Given the description of an element on the screen output the (x, y) to click on. 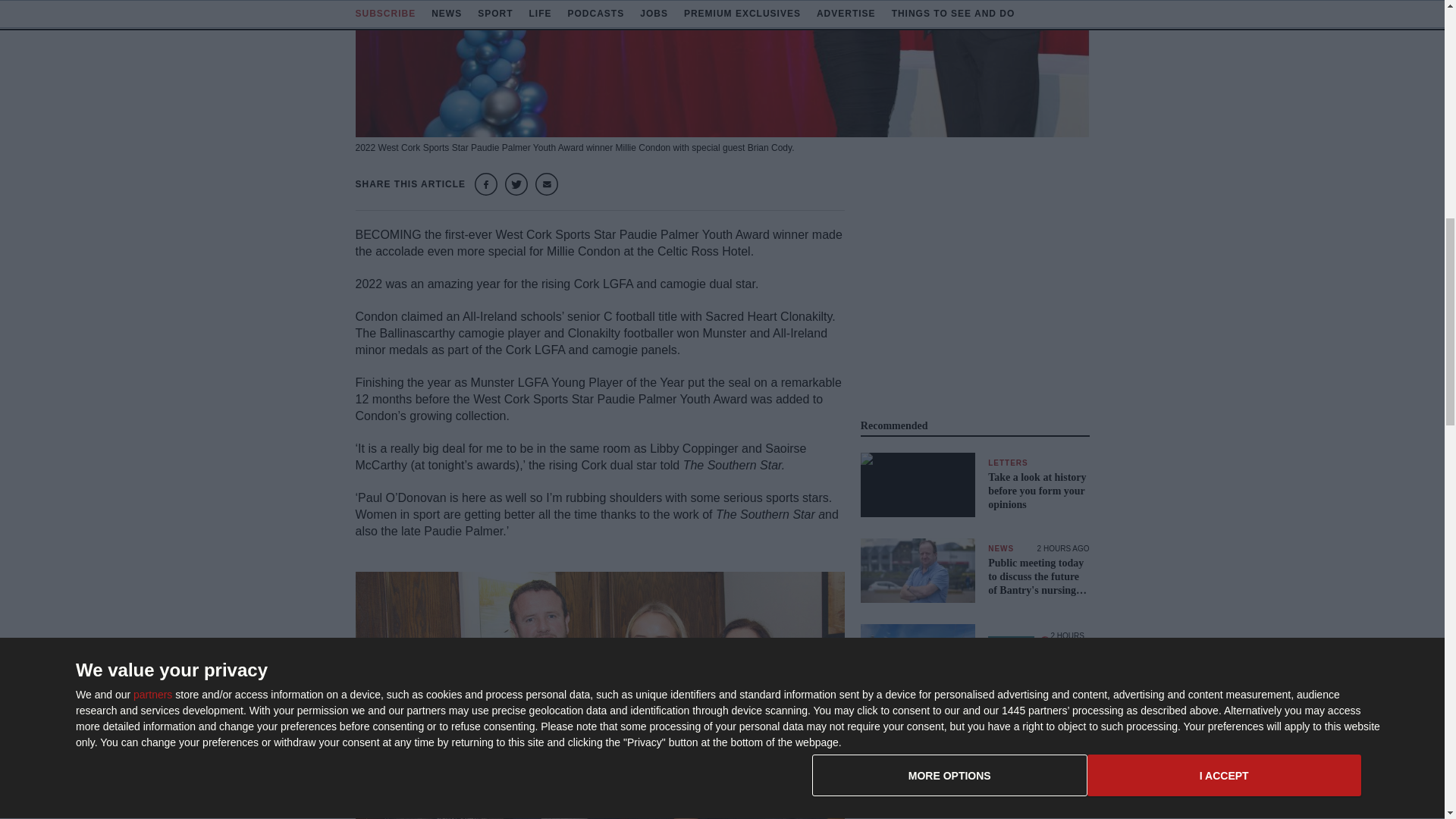
Millie Condon proud to win Paudie Palmer Youth Award Image (722, 68)
